Given the description of an element on the screen output the (x, y) to click on. 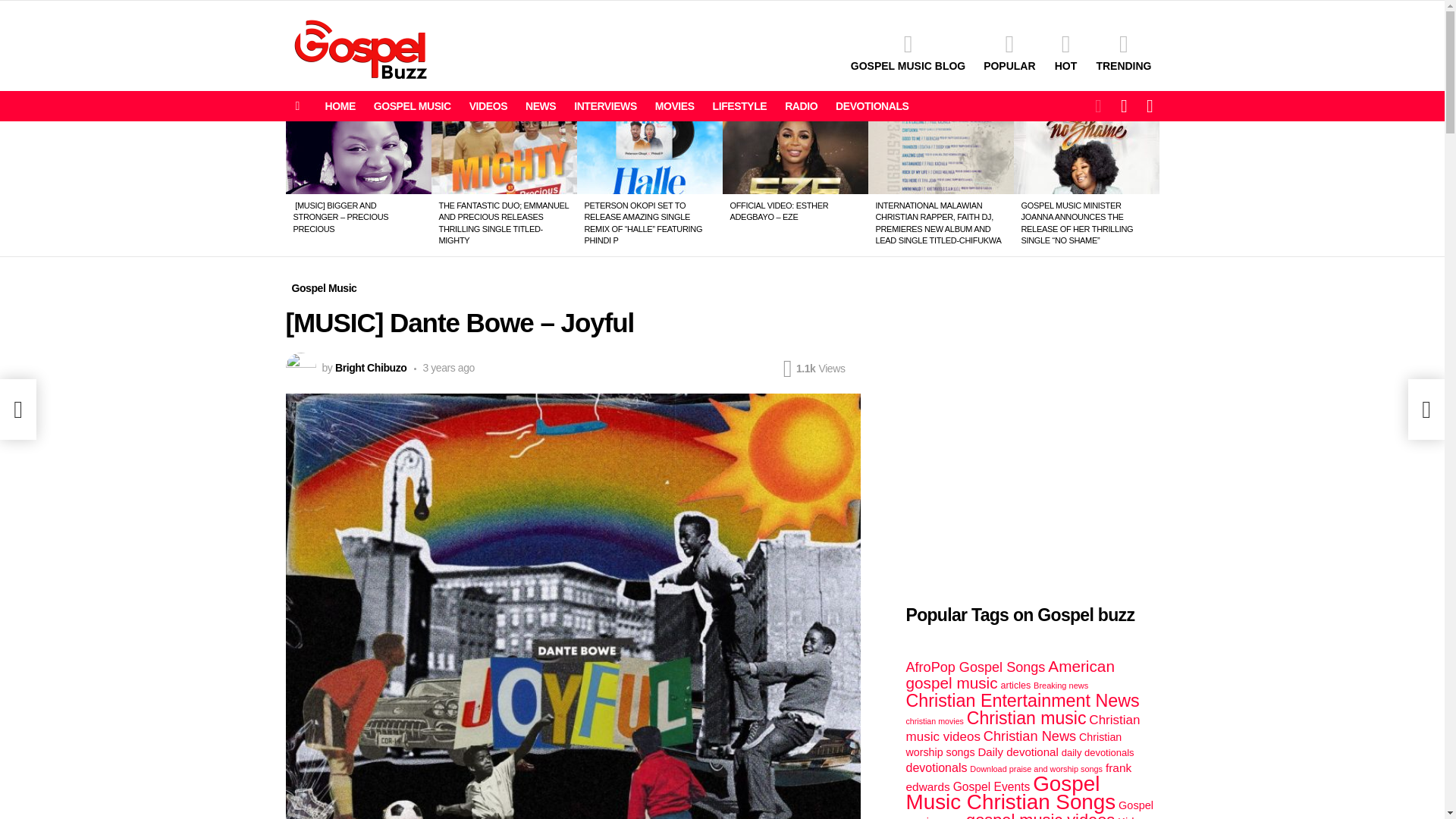
DEVOTIONALS (872, 106)
HOT (1064, 51)
Posts by Bright Chibuzo (370, 367)
POPULAR (1008, 51)
GOSPEL MUSIC BLOG (907, 51)
VIDEOS (488, 106)
HOME (339, 106)
INTERVIEWS (605, 106)
Menu (296, 106)
MOVIES (674, 106)
RADIO (801, 106)
GOSPEL MUSIC (412, 106)
TRENDING (1122, 51)
